Given the description of an element on the screen output the (x, y) to click on. 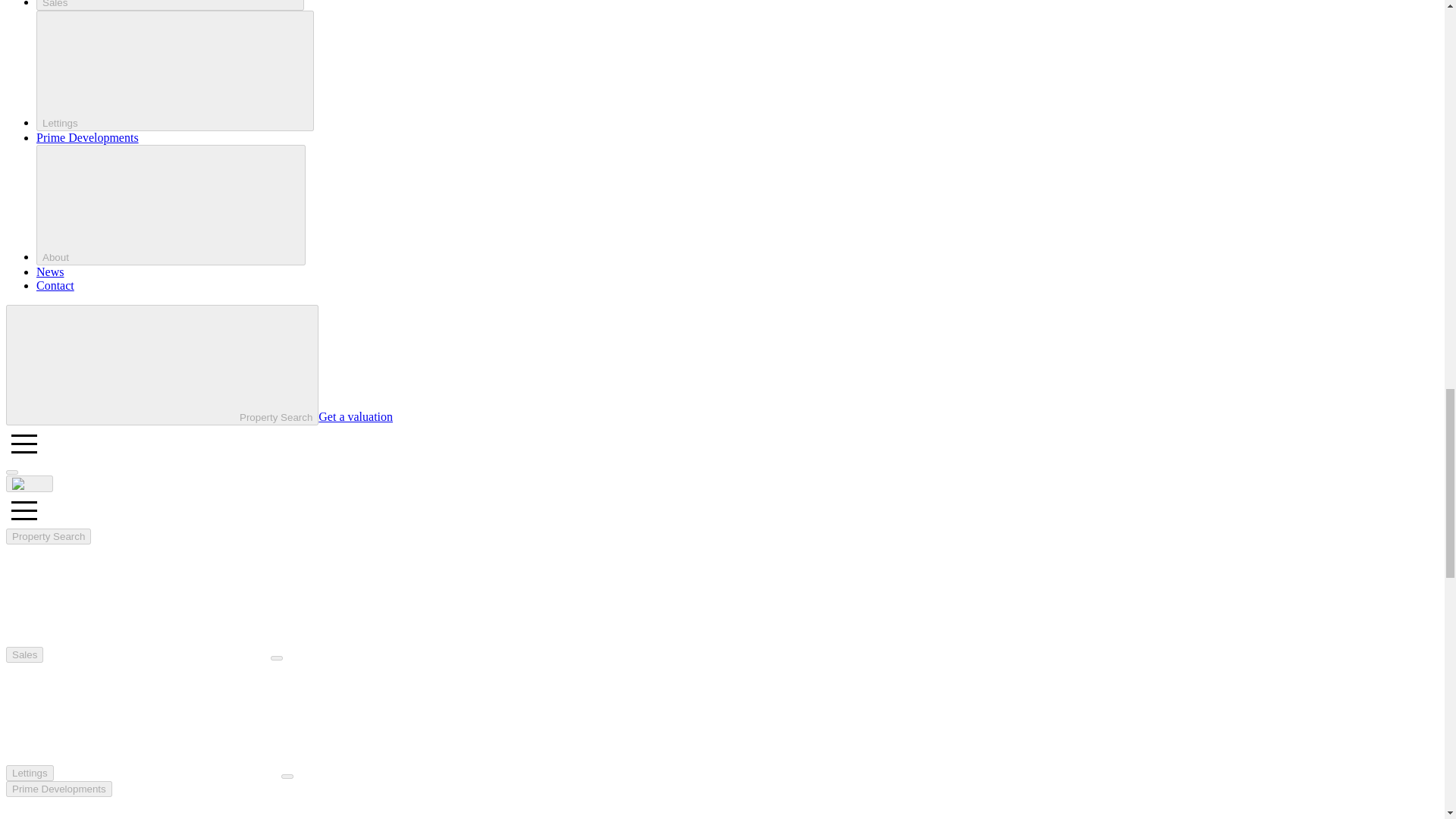
Get a valuation (355, 416)
Lettings (29, 772)
Property Search (161, 364)
About (170, 204)
Contact (55, 285)
Sales (24, 654)
Sales (170, 5)
News (50, 271)
Property Search (47, 536)
Prime Developments (87, 137)
